Given the description of an element on the screen output the (x, y) to click on. 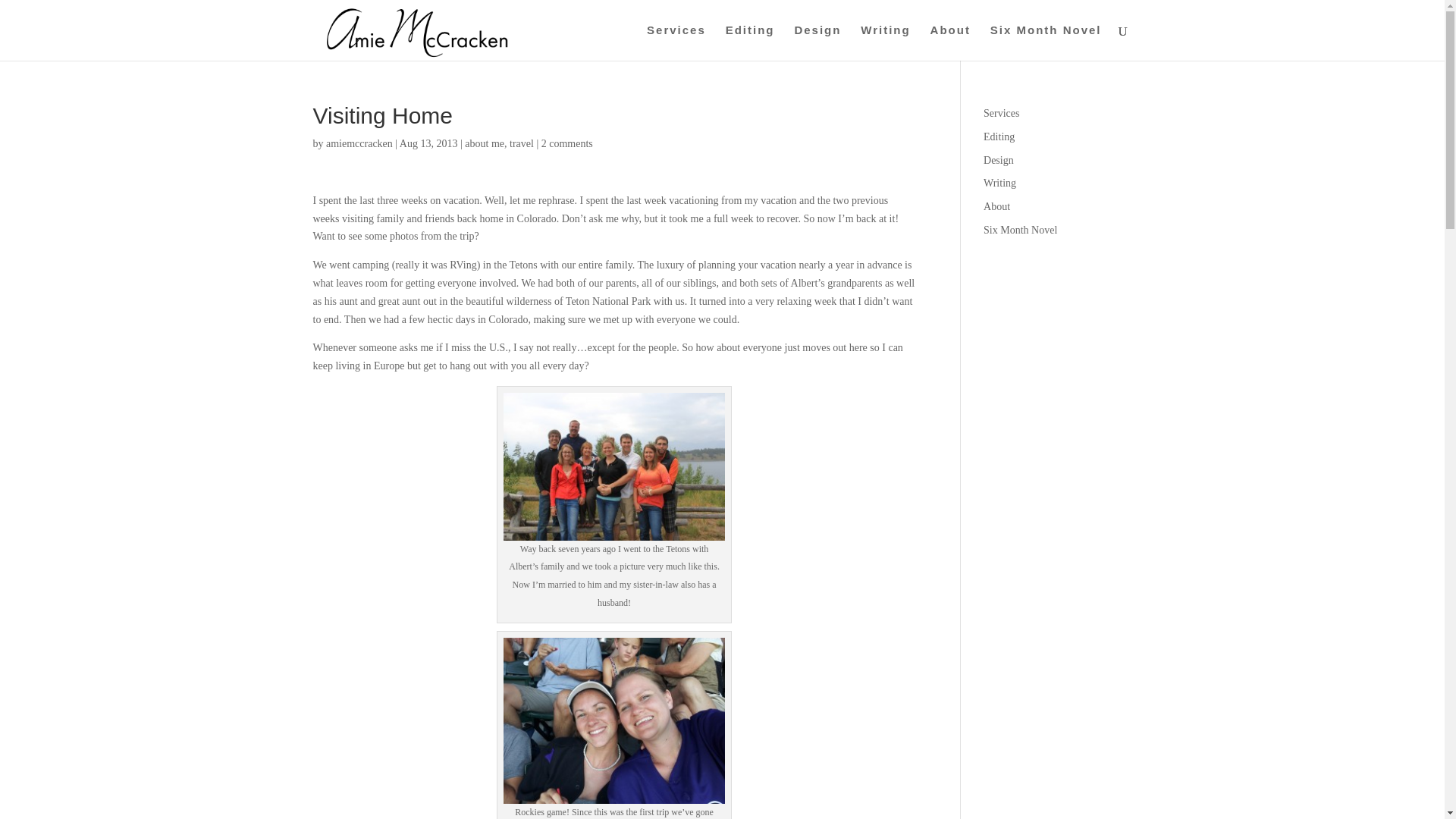
Editing (749, 42)
amiemccracken (359, 143)
Posts by amiemccracken (359, 143)
Design (998, 160)
Design (817, 42)
Editing (999, 136)
Six Month Novel (1020, 229)
Writing (885, 42)
About (997, 206)
about me (483, 143)
